Given the description of an element on the screen output the (x, y) to click on. 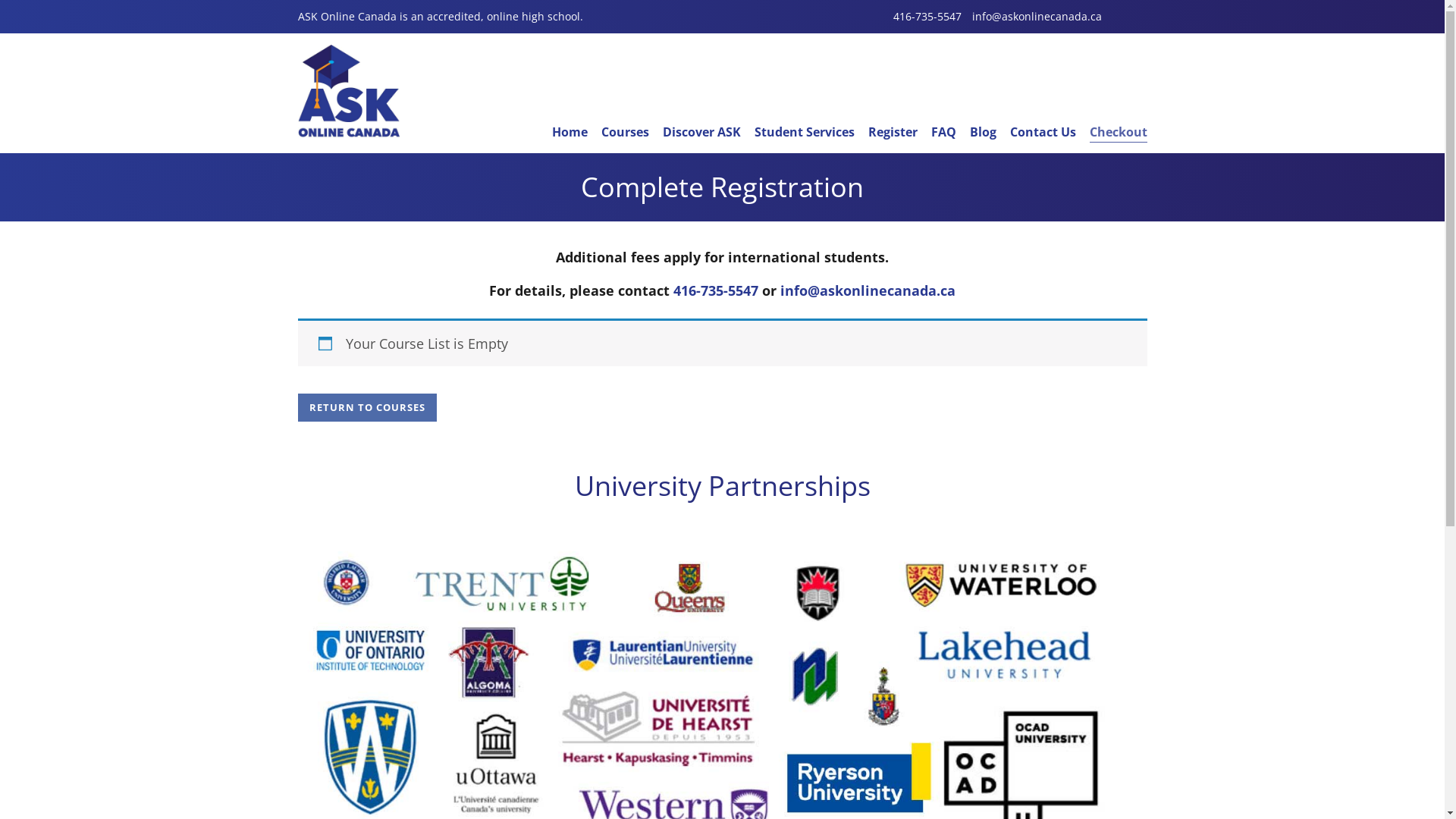
Discover ASK Element type: text (701, 131)
info@askonlinecanada.ca Element type: text (867, 290)
Student Services Element type: text (804, 131)
416-735-5547 Element type: text (715, 290)
Register Element type: text (892, 131)
Home Element type: text (569, 131)
Contact Us Element type: text (1043, 131)
Blog Element type: text (982, 131)
RETURN TO COURSES Element type: text (366, 407)
FAQ Element type: text (943, 131)
Courses Element type: text (625, 131)
416-735-5547 Element type: text (927, 16)
info@askonlinecanada.ca Element type: text (1036, 16)
Checkout Element type: text (1118, 131)
